Given the description of an element on the screen output the (x, y) to click on. 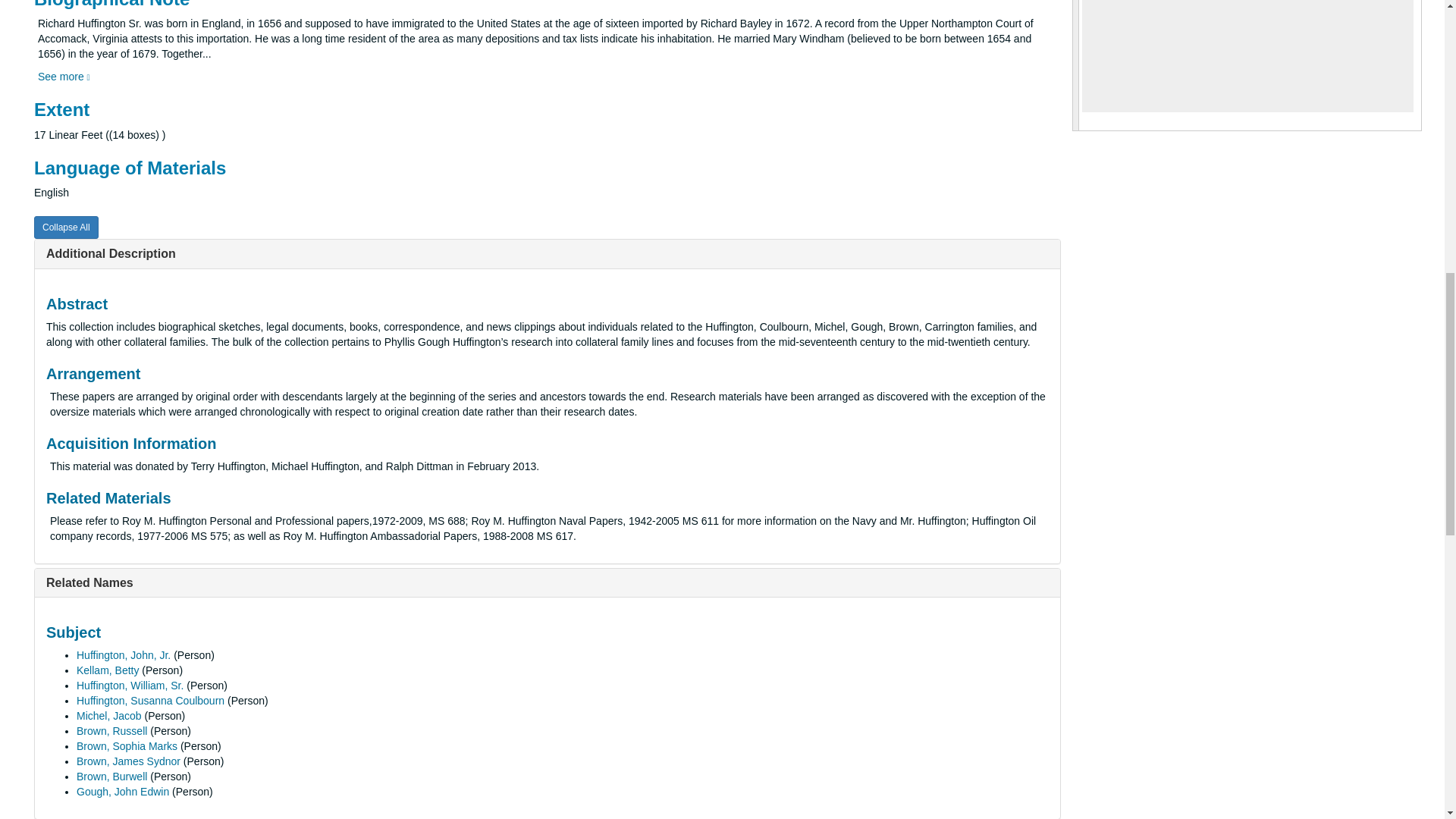
Collapse All (66, 227)
See more (63, 76)
Kellam, Betty (107, 670)
Huffington, John, Jr. (123, 654)
Brown, James Sydnor (128, 761)
Huffington, Susanna Coulbourn (150, 700)
Additional Description (111, 253)
Brown, Sophia Marks (127, 746)
Huffington, William, Sr. (130, 685)
Brown, Burwell (112, 776)
